Given the description of an element on the screen output the (x, y) to click on. 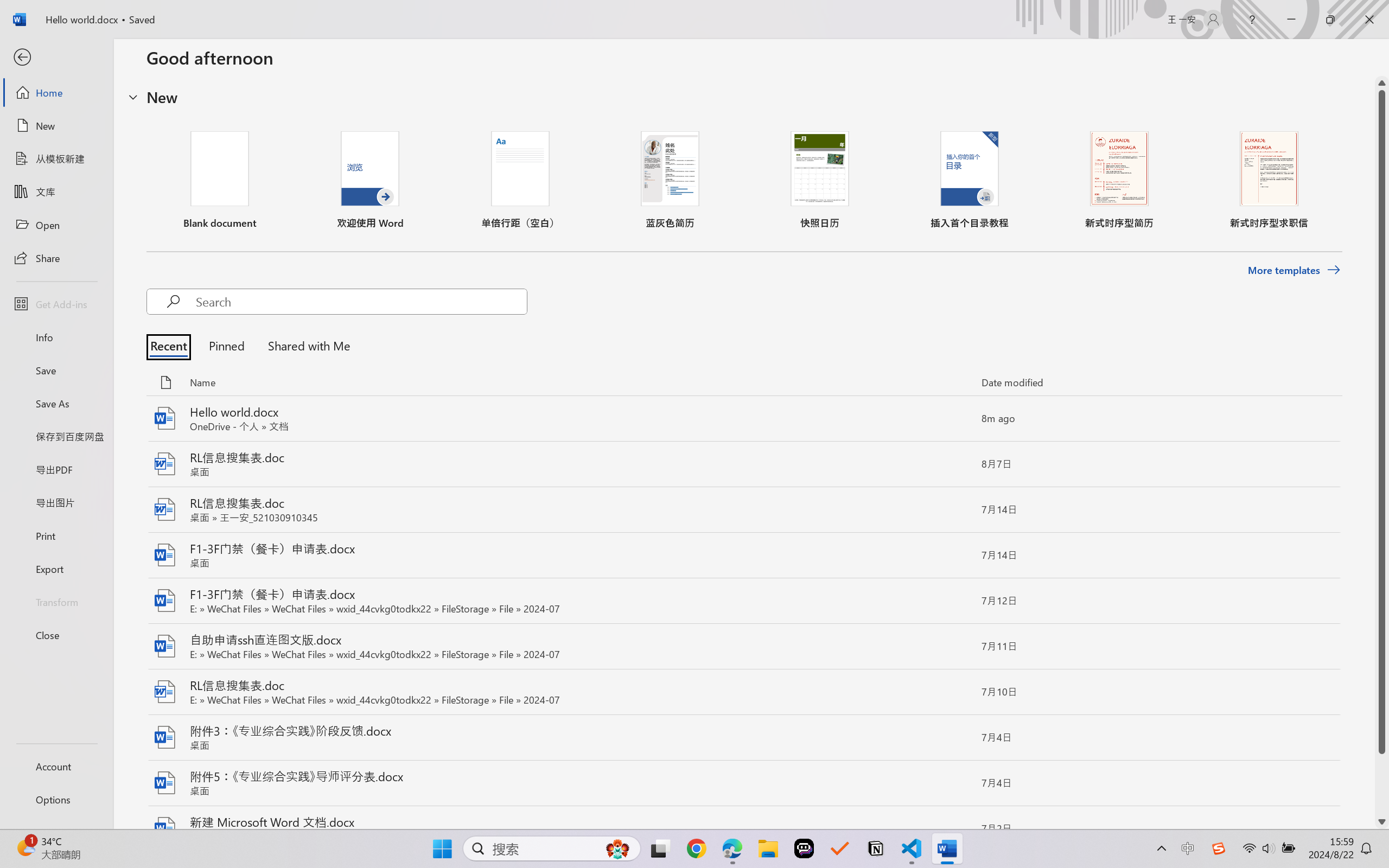
Blank document (219, 180)
Back (56, 57)
Help (1252, 19)
Page down (1382, 784)
Minimize (1291, 19)
Hide or show region (133, 96)
AutomationID: BadgeAnchorLargeTicker (24, 847)
Pinned (226, 345)
Info (56, 337)
Pin this item to the list (954, 828)
Shared with Me (305, 345)
